Given the description of an element on the screen output the (x, y) to click on. 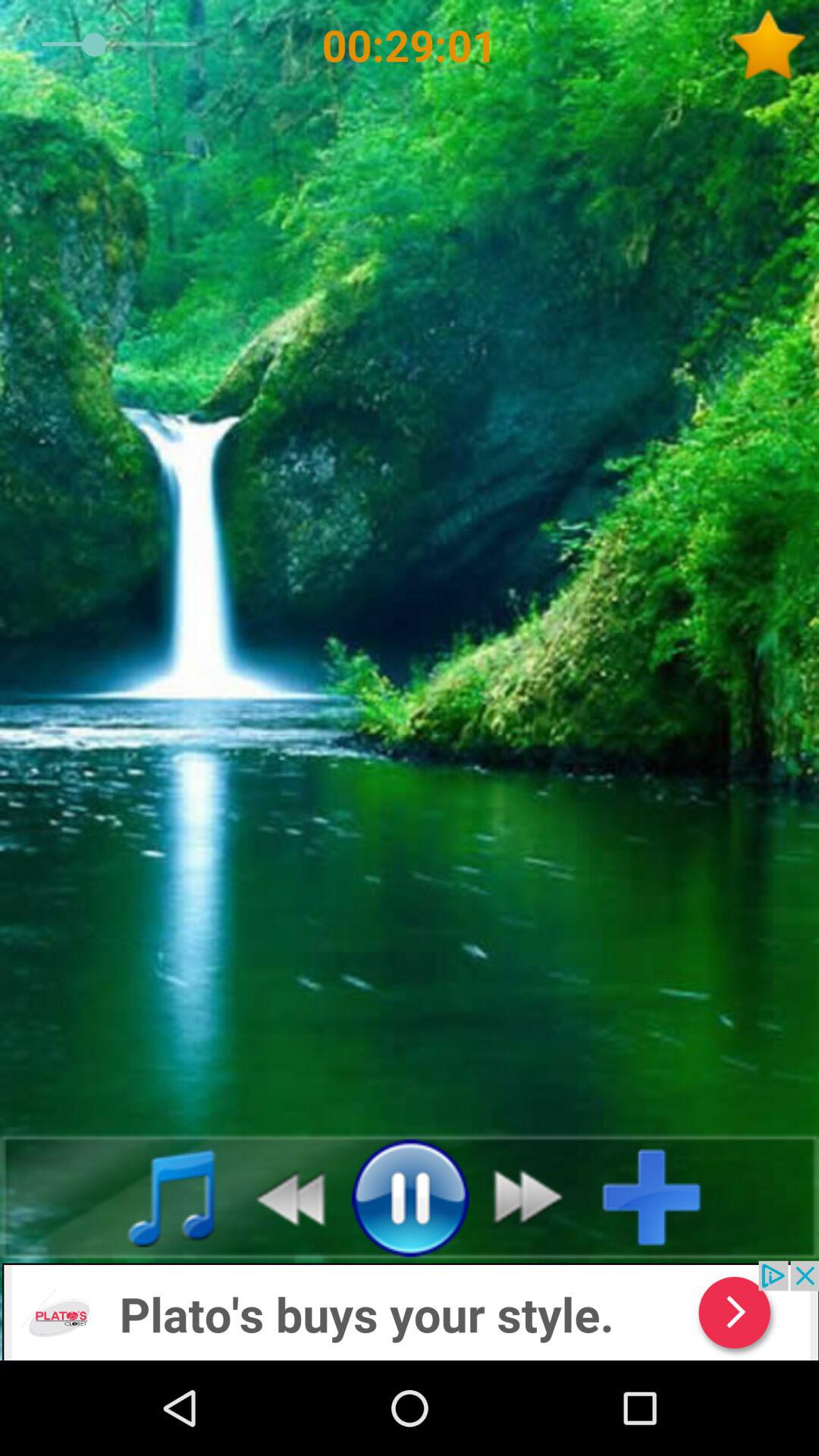
go to next (536, 1196)
